Given the description of an element on the screen output the (x, y) to click on. 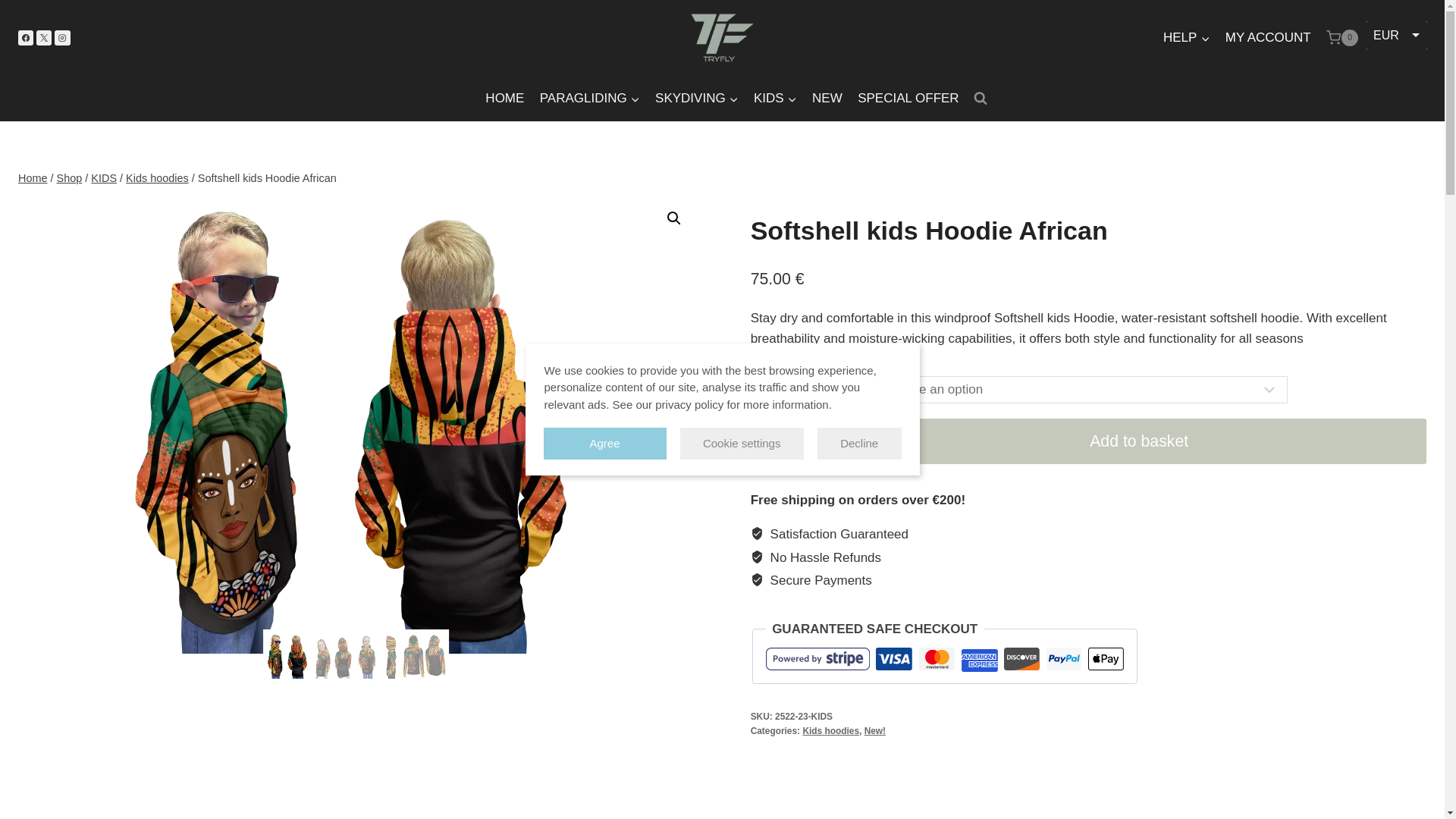
1 (798, 441)
HOME (504, 98)
MY ACCOUNT (1268, 37)
HELP (1186, 37)
0 (1342, 37)
SKYDIVING (696, 98)
PARAGLIDING (589, 98)
